Given the description of an element on the screen output the (x, y) to click on. 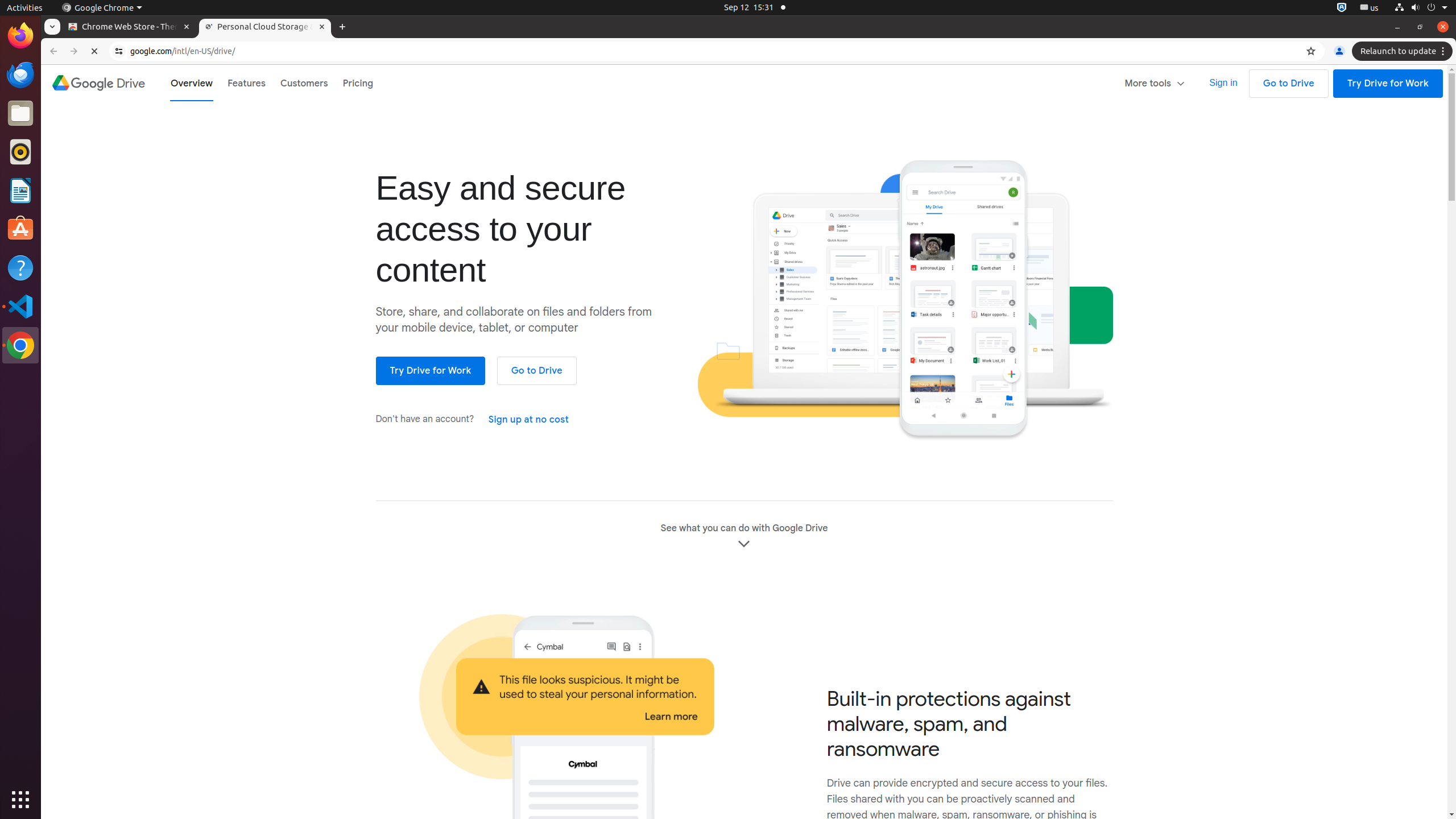
Thunderbird Mail Element type: push-button (20, 74)
New Tab Element type: push-button (342, 26)
See what you can do with Google Drive Element type: link (744, 536)
Files Element type: push-button (20, 113)
Try Drive for Work Element type: link (1387, 83)
